Given the description of an element on the screen output the (x, y) to click on. 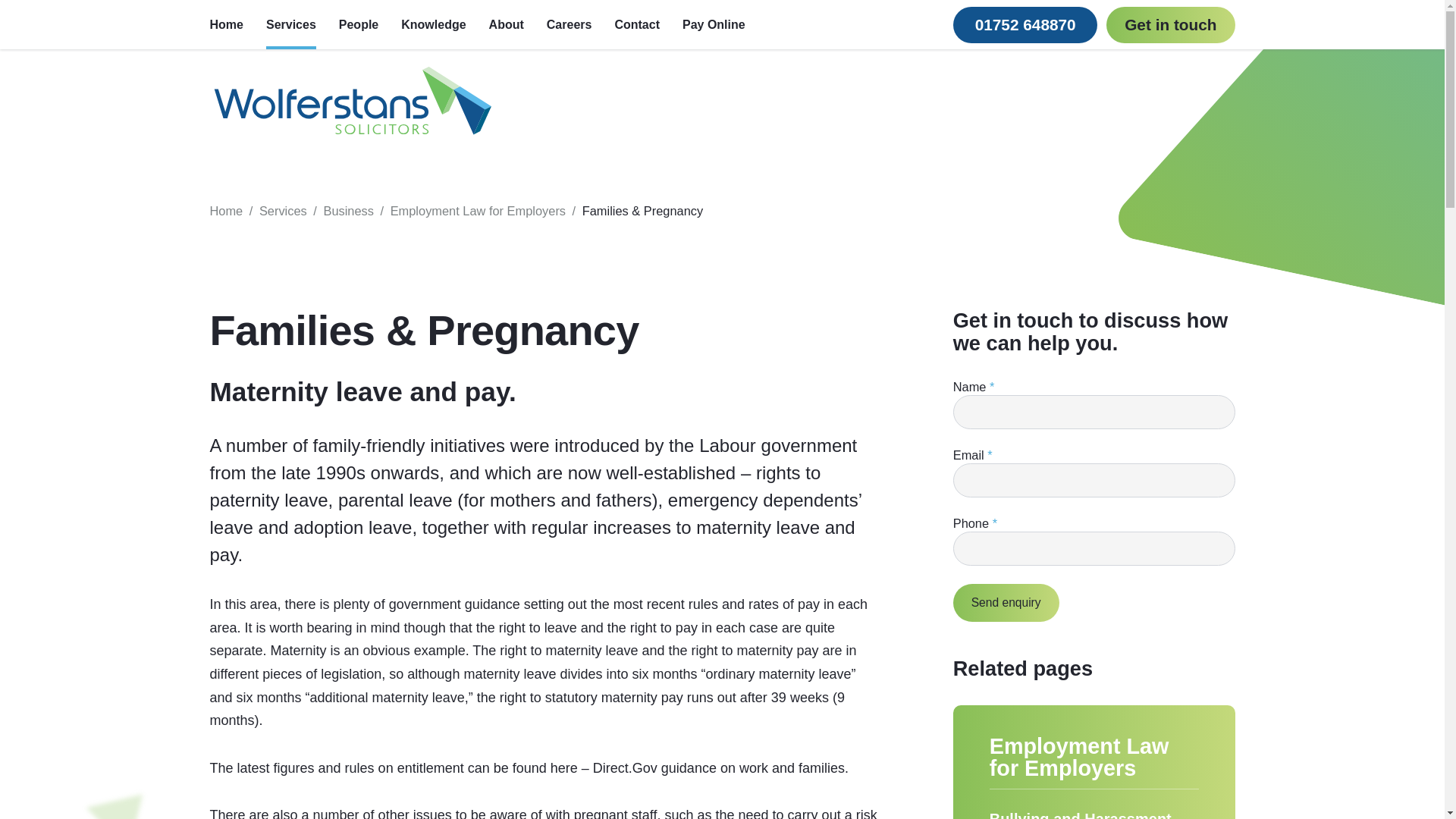
Employment Law for Employers (478, 210)
Business (348, 210)
Home (231, 24)
Go to the Wolferstans homepage (352, 102)
People (358, 24)
Services (283, 210)
Knowledge (433, 24)
Services (290, 24)
About (506, 24)
Home (226, 210)
